Given the description of an element on the screen output the (x, y) to click on. 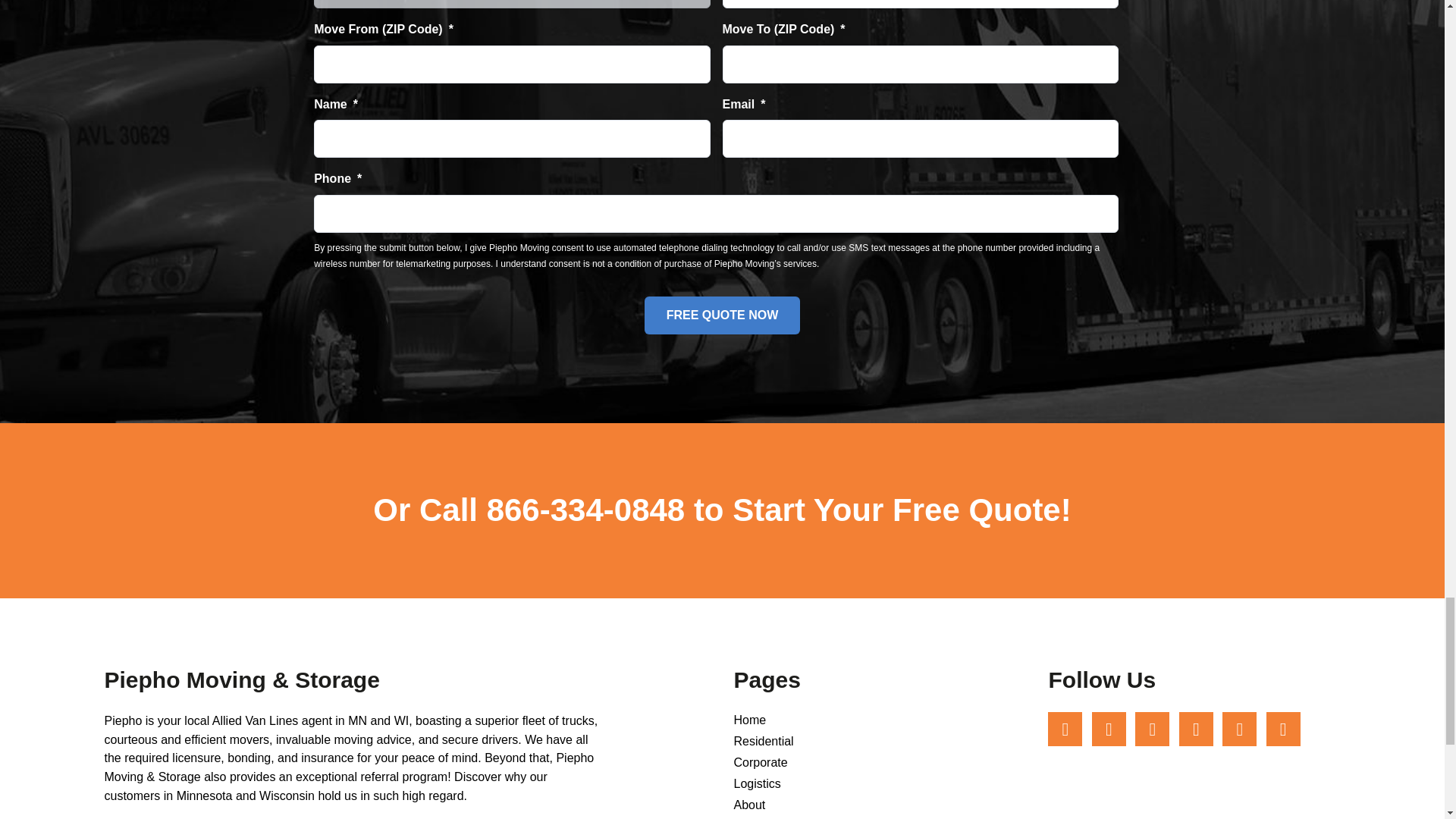
Youtube (1152, 728)
Yelp (1283, 728)
Instagram (1108, 728)
Facebook (1064, 728)
LinkedIn (1195, 728)
Twitter (1239, 728)
Free Quote Now (722, 315)
